Given the description of an element on the screen output the (x, y) to click on. 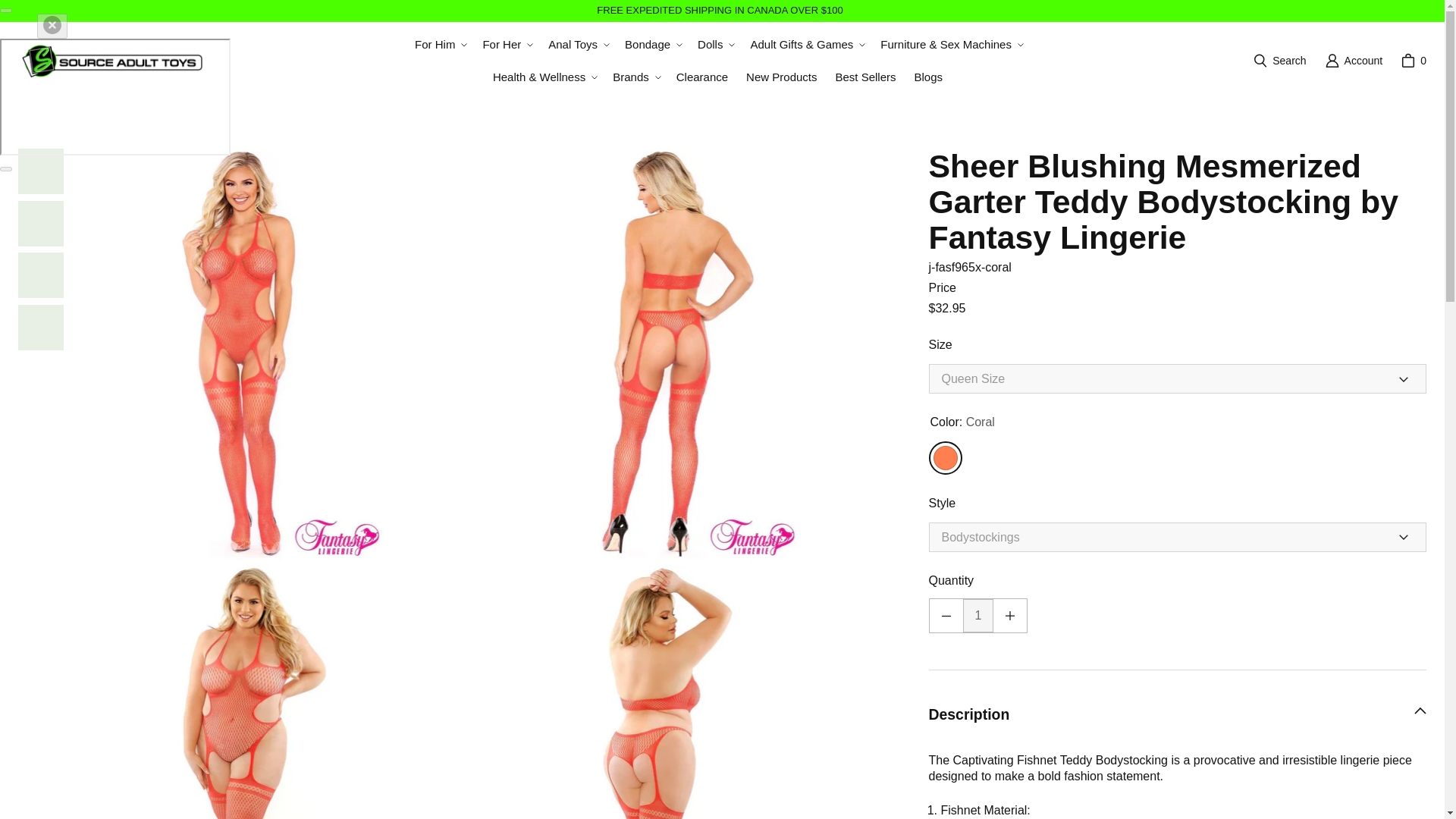
1 (978, 615)
